Given the description of an element on the screen output the (x, y) to click on. 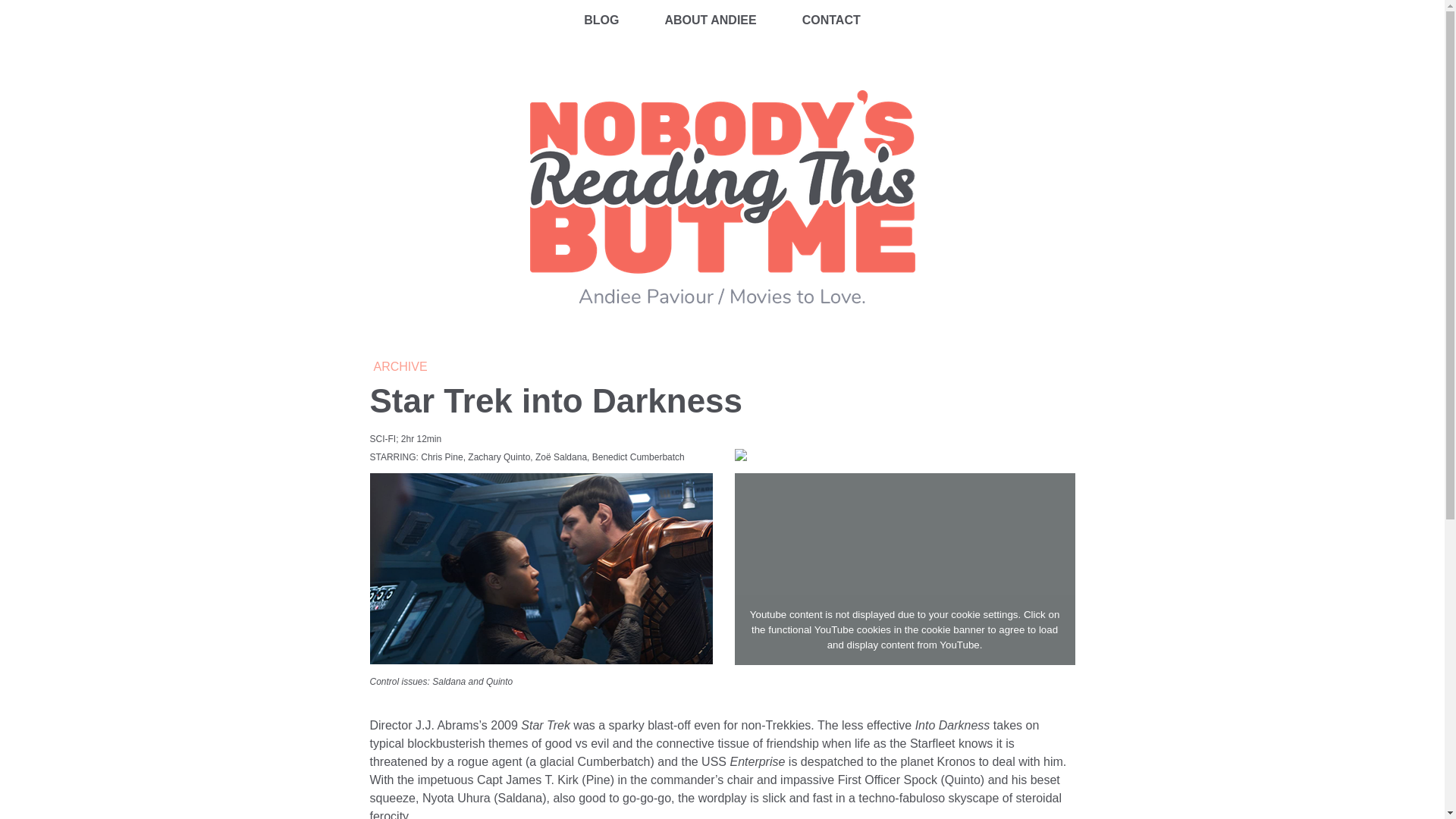
functional YouTube cookies in the cookie banner (876, 628)
CONTACT (830, 20)
ABOUT ANDIEE (710, 20)
BLOG (601, 20)
ARCHIVE (399, 366)
